Given the description of an element on the screen output the (x, y) to click on. 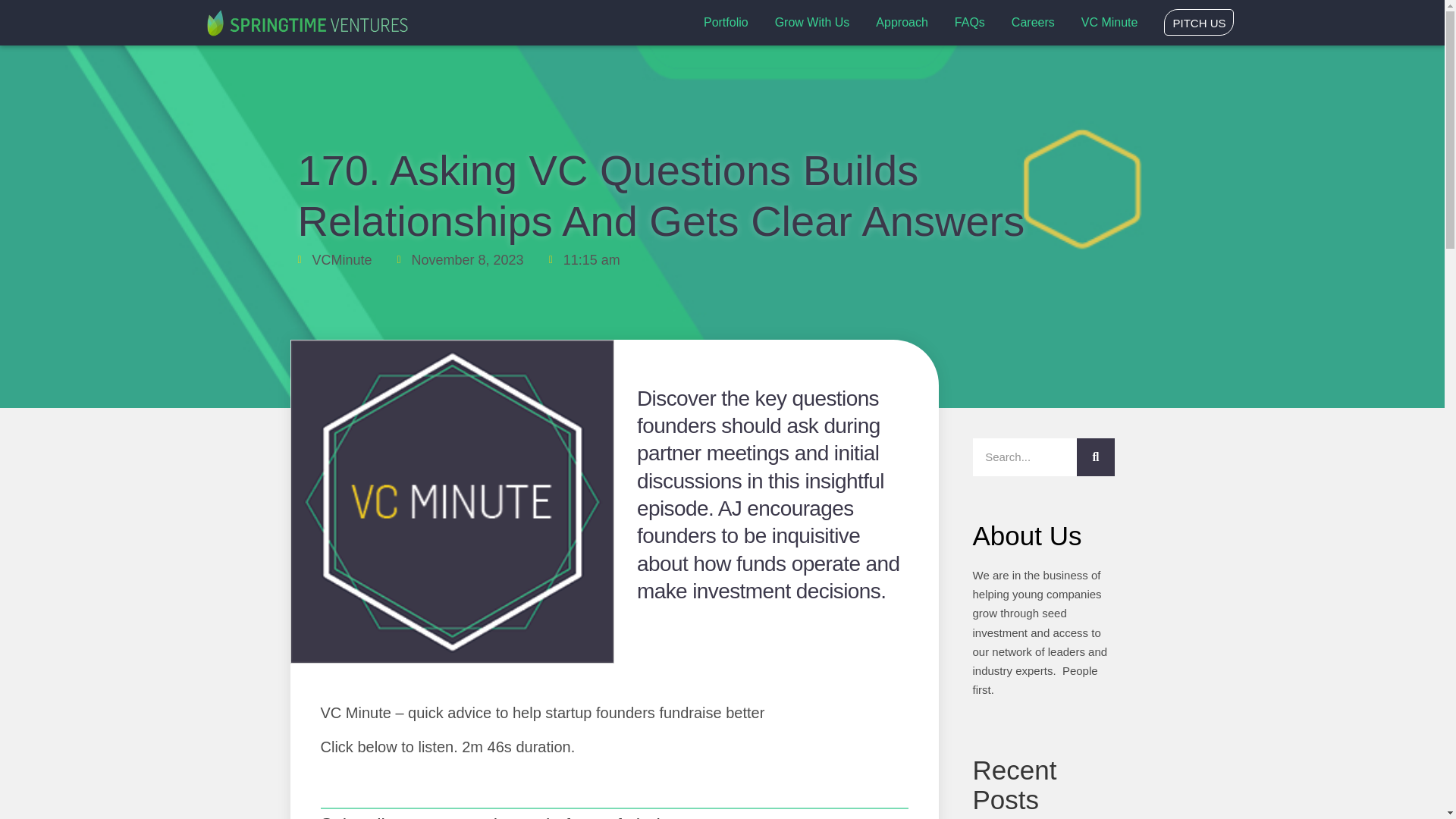
Careers (1032, 22)
FAQs (970, 22)
Portfolio (725, 22)
Approach (902, 22)
PITCH US (1198, 22)
VC Minute (1109, 22)
Grow With Us (812, 22)
